Given the description of an element on the screen output the (x, y) to click on. 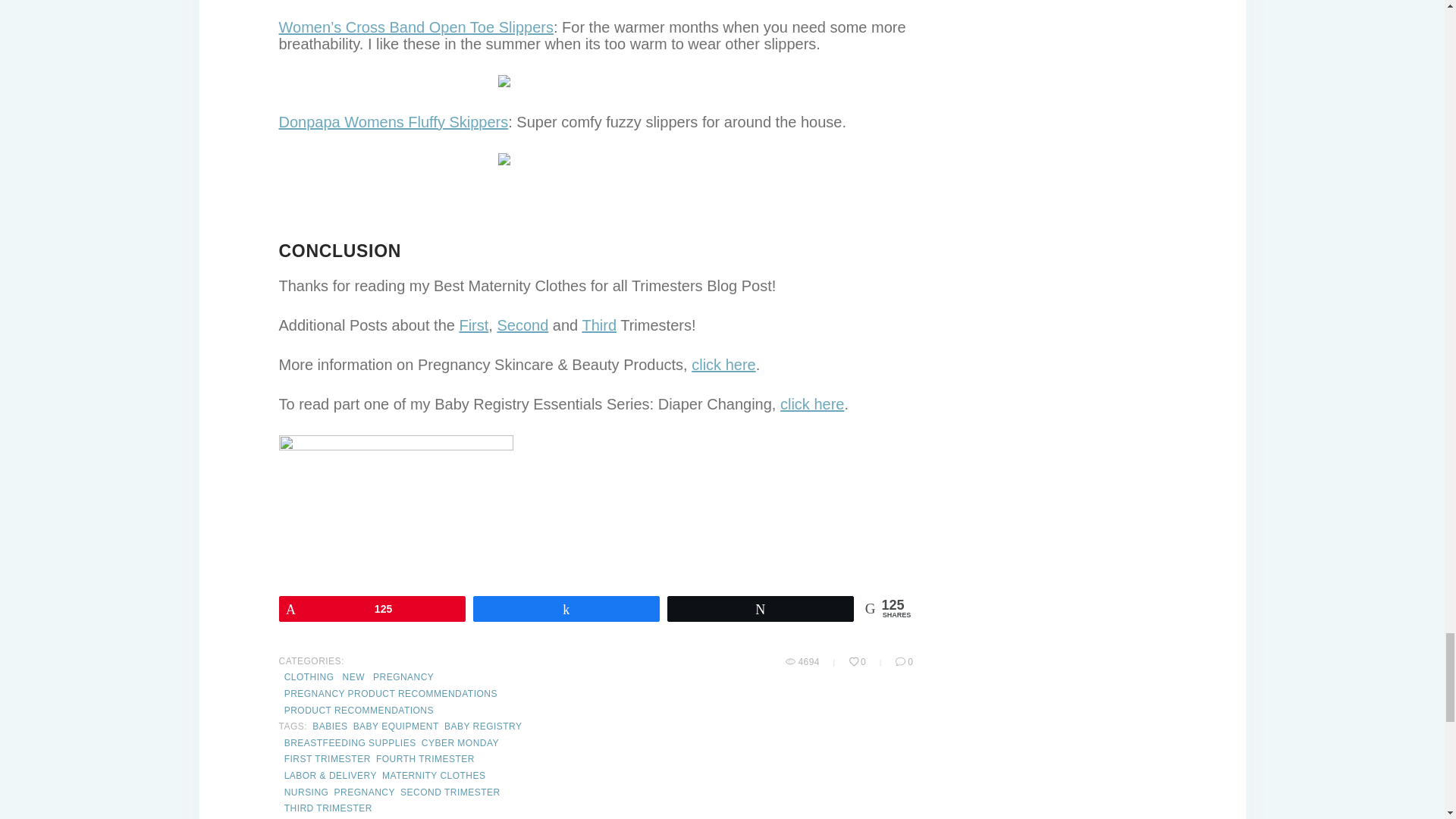
Like (858, 661)
